Given the description of an element on the screen output the (x, y) to click on. 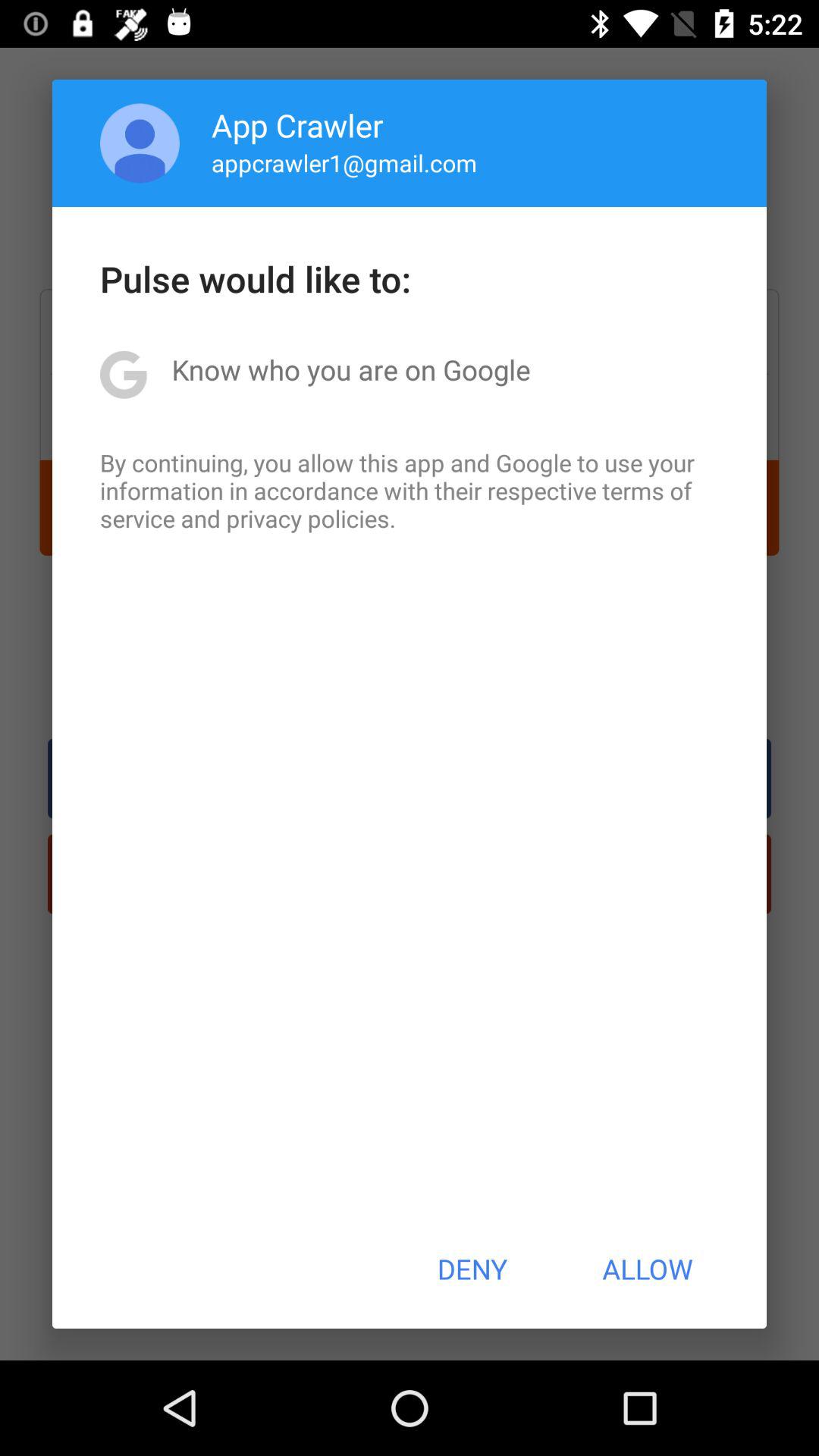
press the icon above the by continuing you app (350, 369)
